Given the description of an element on the screen output the (x, y) to click on. 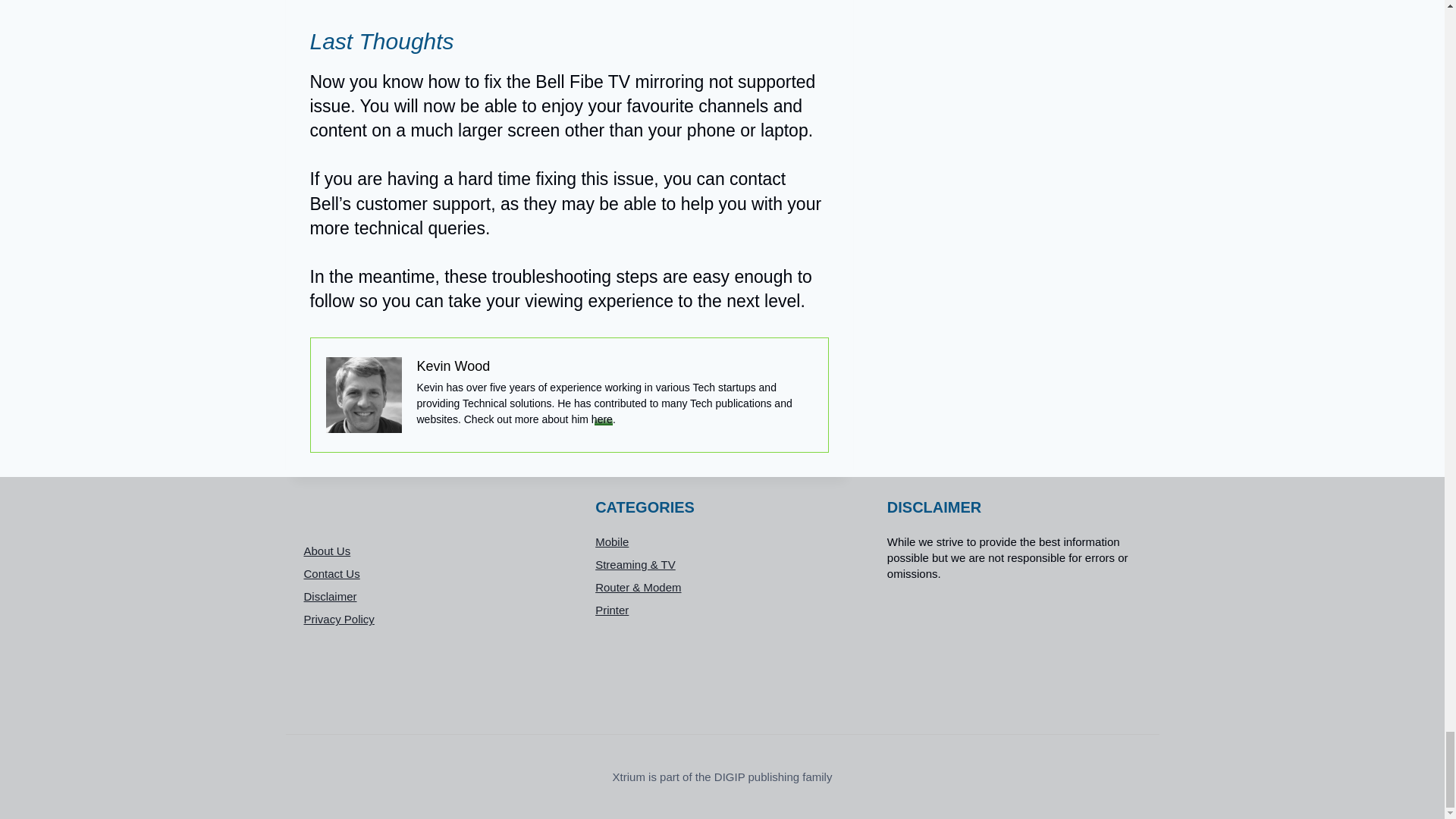
Contact Us (429, 573)
About Us (429, 550)
Disclaimer (429, 596)
DMCA.com Protection Status (1013, 649)
Kevin Wood (453, 365)
Privacy Policy (429, 619)
here (601, 419)
